Given the description of an element on the screen output the (x, y) to click on. 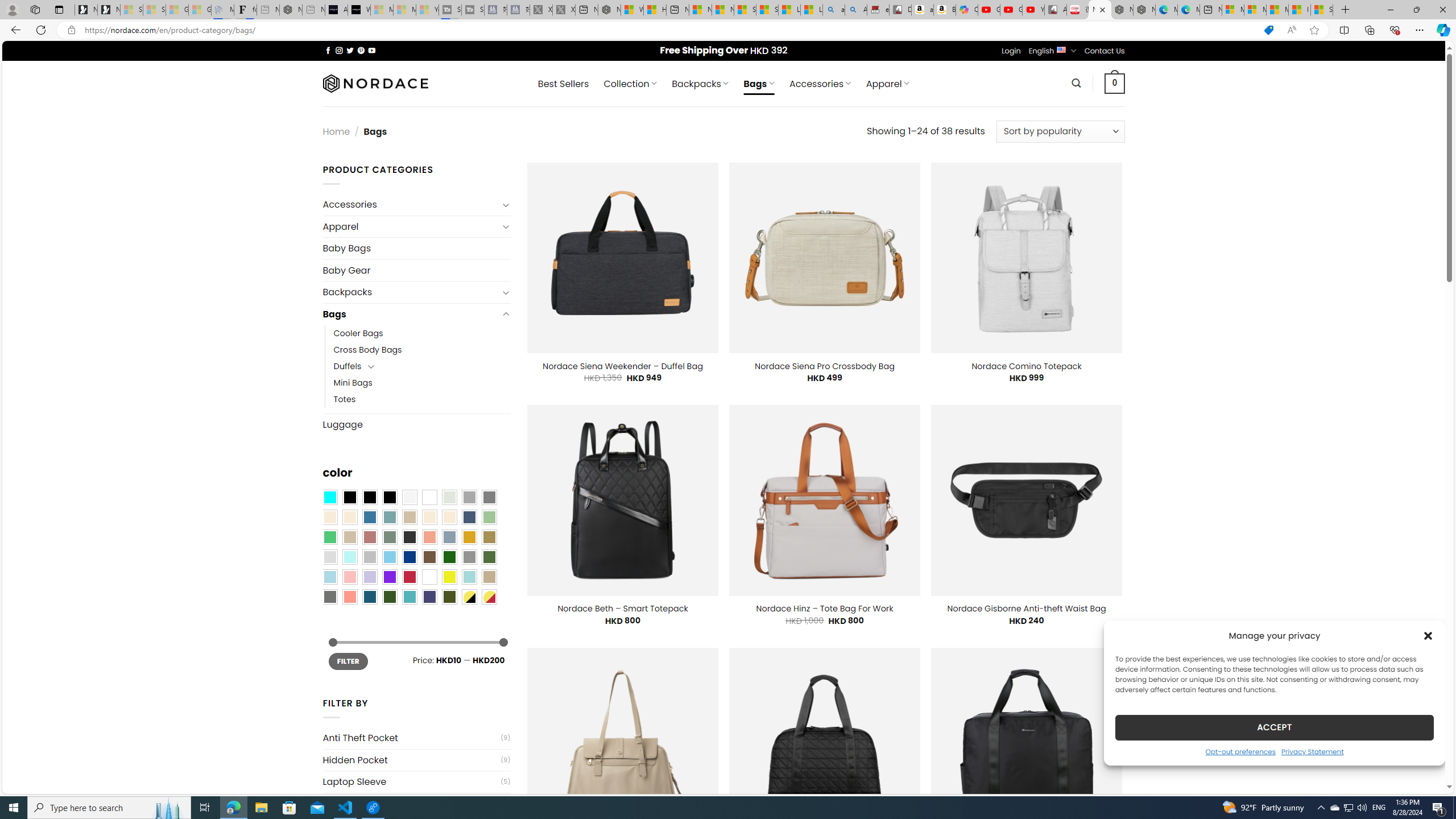
Sky Blue (389, 557)
Mini Bags (422, 382)
English (1061, 49)
Hidden Pocket(9) (416, 759)
FILTER (347, 661)
Light Taupe (349, 536)
Dark Green (449, 557)
Luggage (416, 423)
Baby Bags (416, 248)
Light Gray (329, 557)
Light Blue (329, 577)
